Given the description of an element on the screen output the (x, y) to click on. 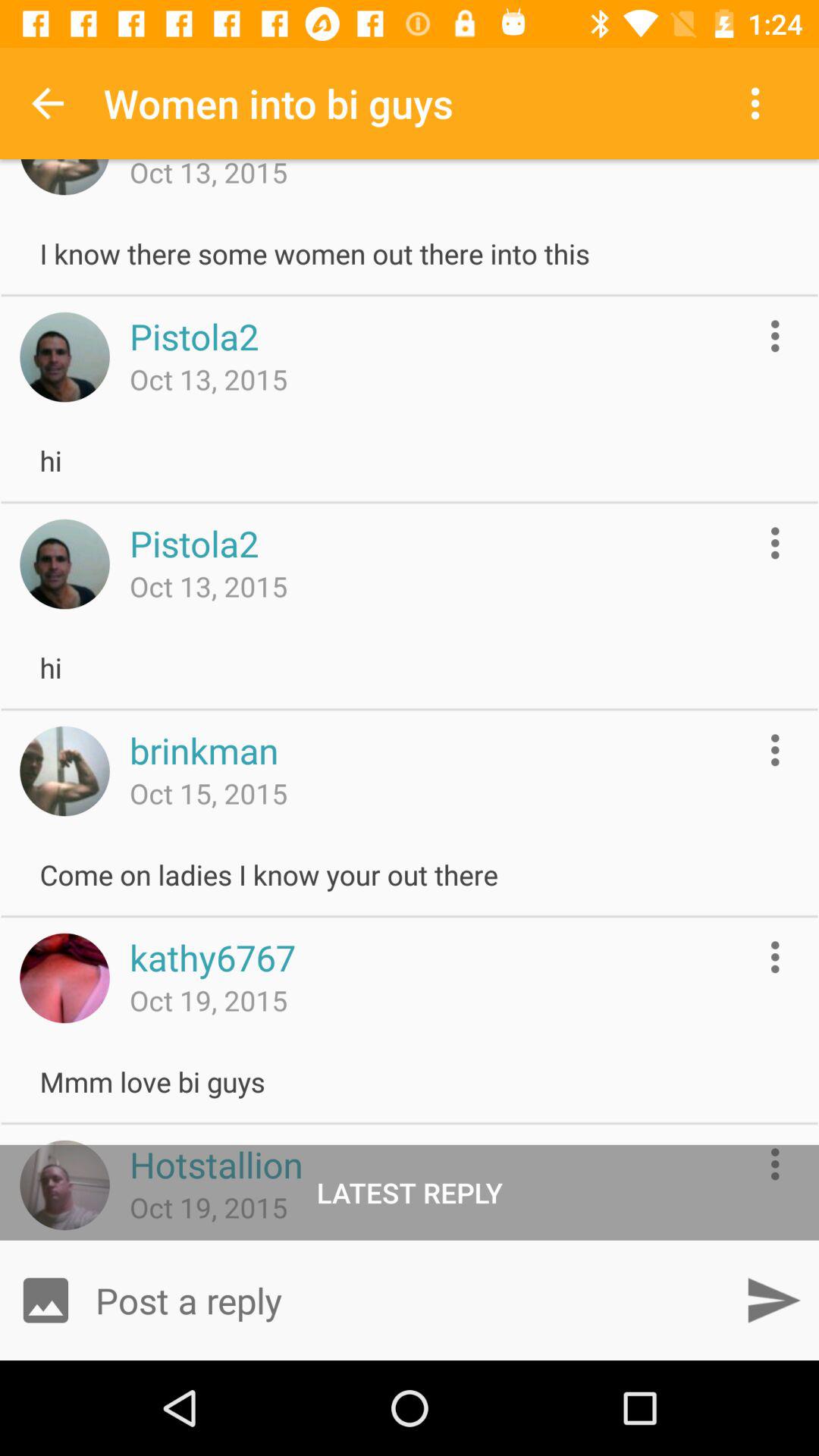
profile pic (64, 564)
